Given the description of an element on the screen output the (x, y) to click on. 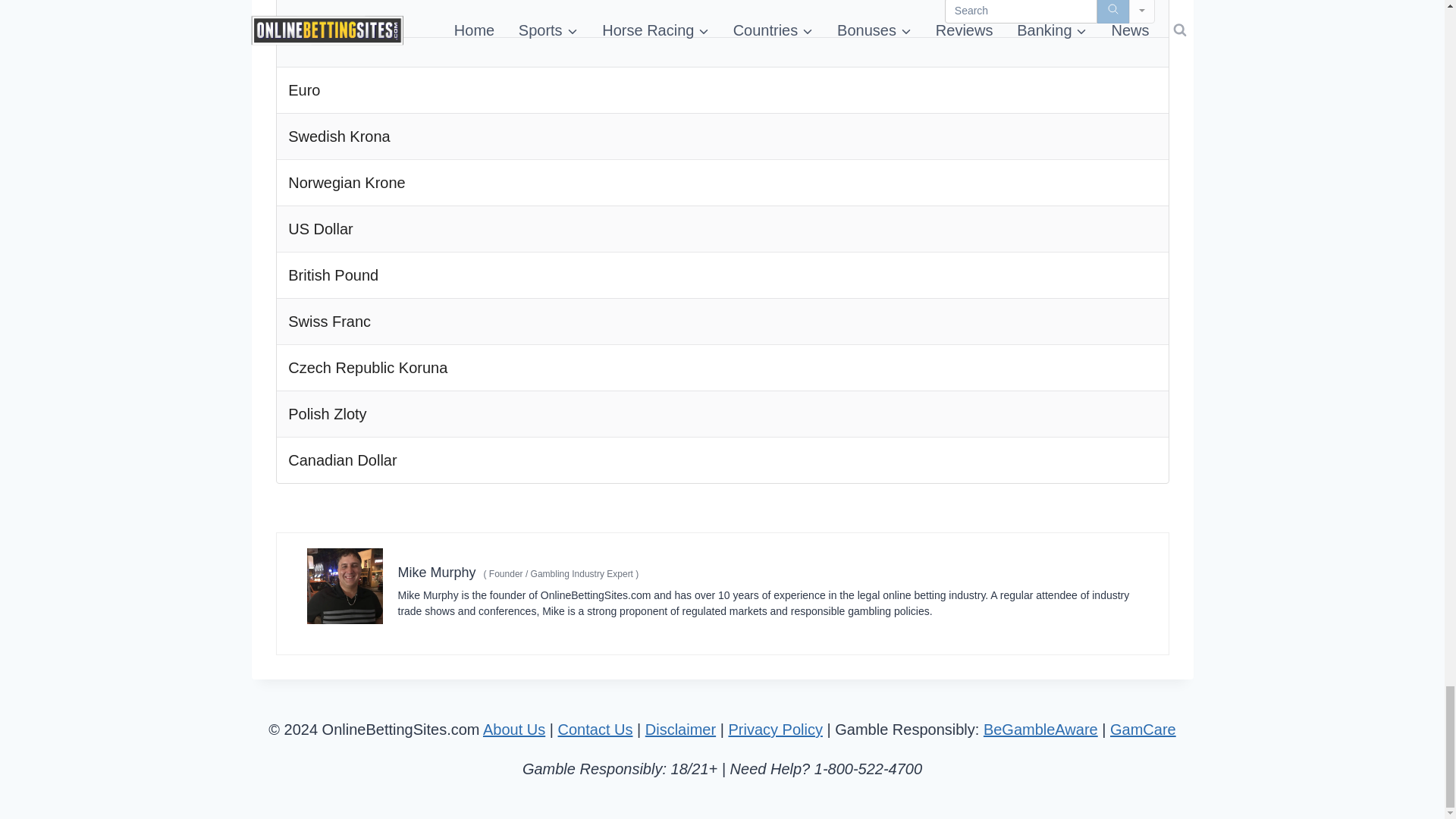
MikeMurphyOnlineBettingSites (343, 585)
